Given the description of an element on the screen output the (x, y) to click on. 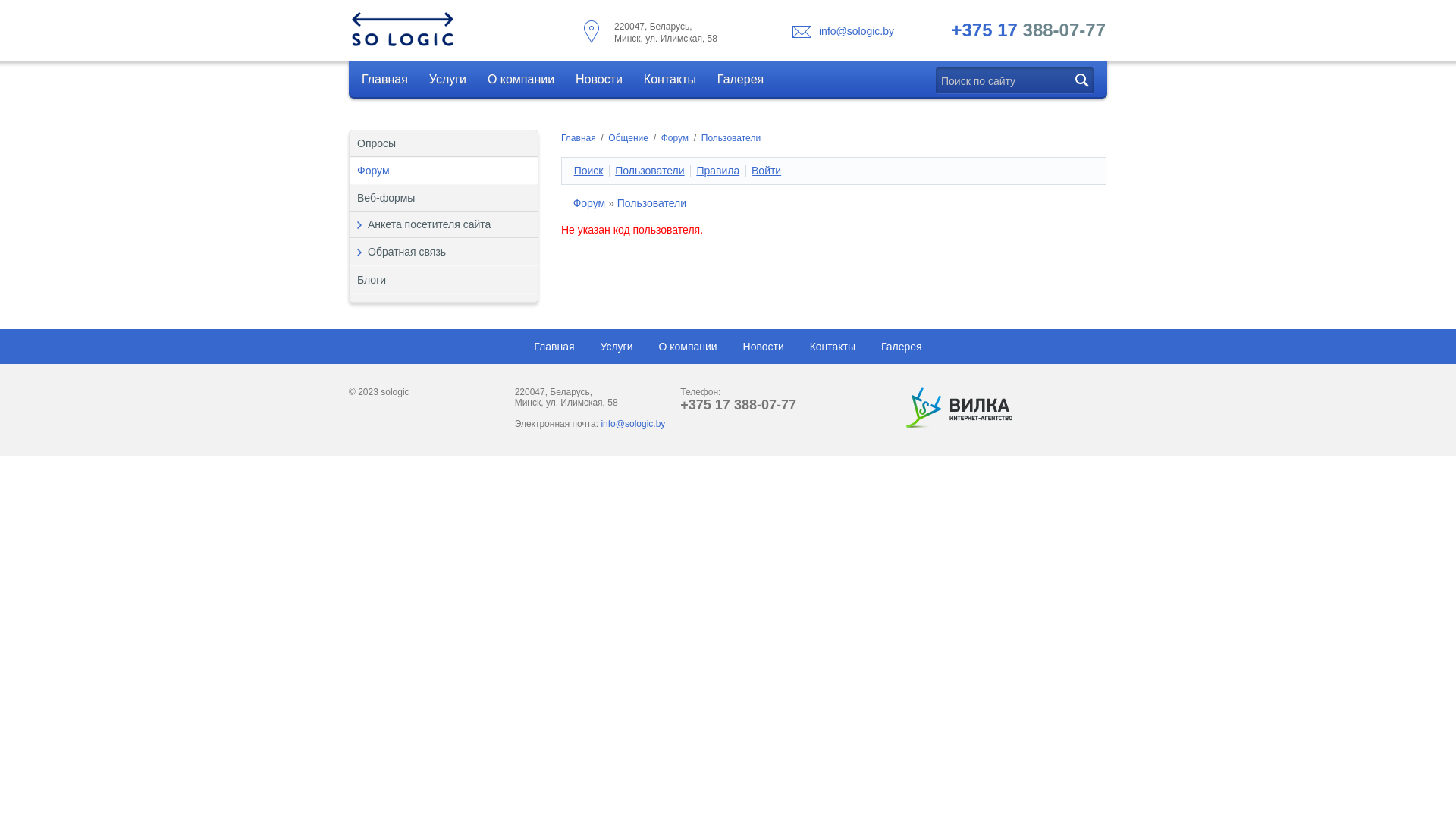
info@sologic.by Element type: text (856, 31)
info@sologic.by Element type: text (632, 423)
